Given the description of an element on the screen output the (x, y) to click on. 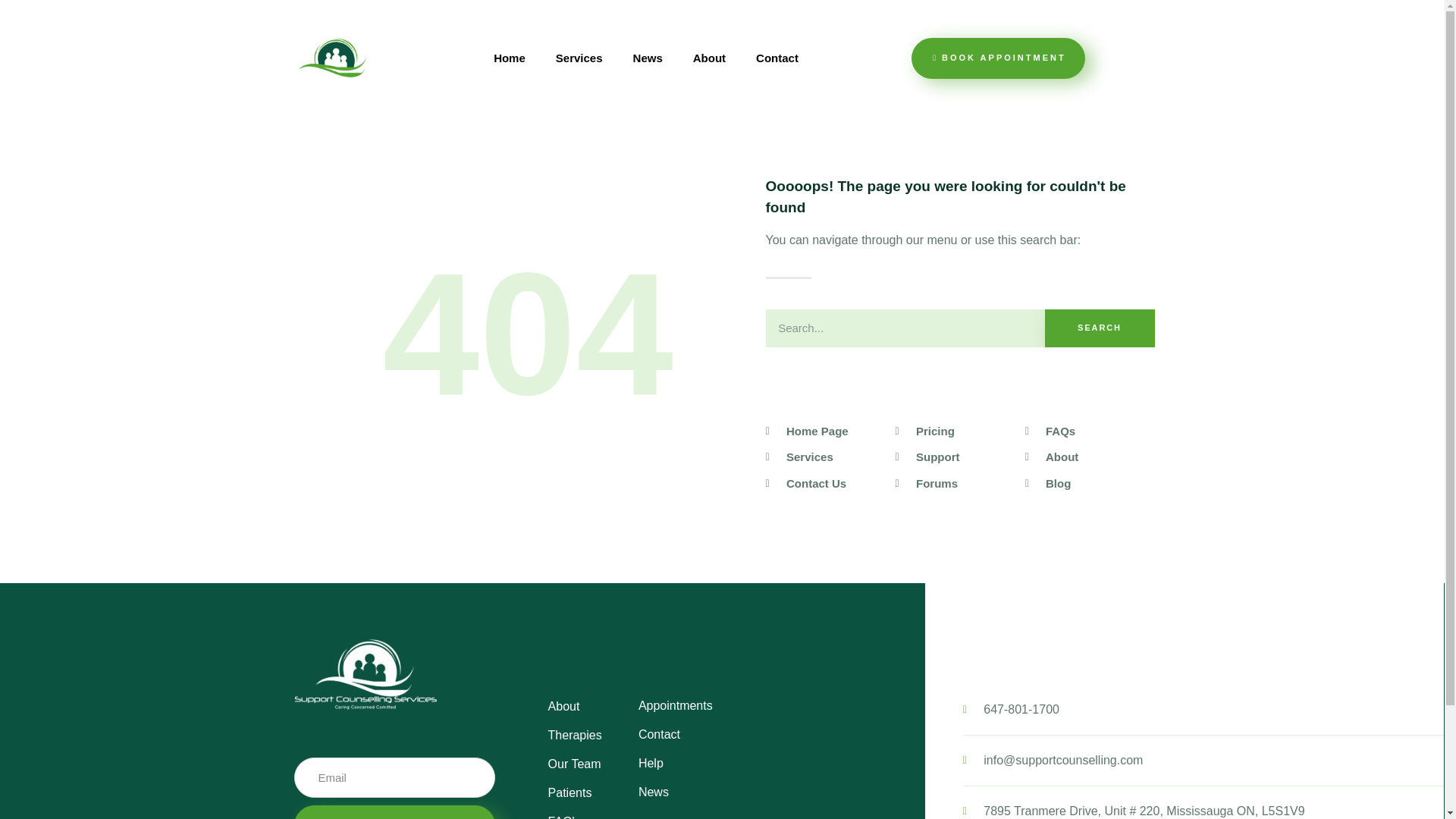
BOOK APPOINTMENT (997, 57)
SEARCH (1099, 328)
Search (905, 328)
Services (578, 57)
SEND (394, 812)
Search (1099, 328)
Contact (777, 57)
News (647, 57)
About (709, 57)
Home (509, 57)
